Given the description of an element on the screen output the (x, y) to click on. 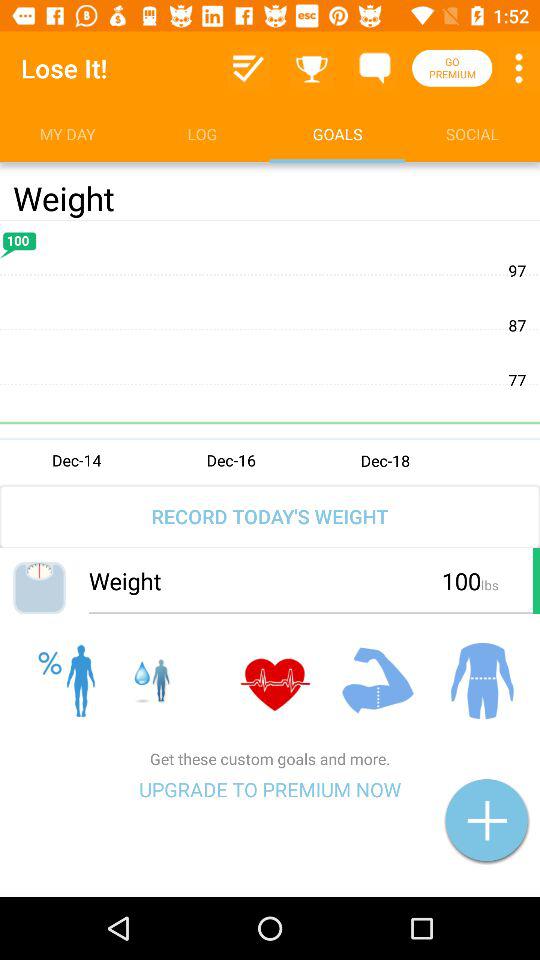
right menu (248, 67)
